Given the description of an element on the screen output the (x, y) to click on. 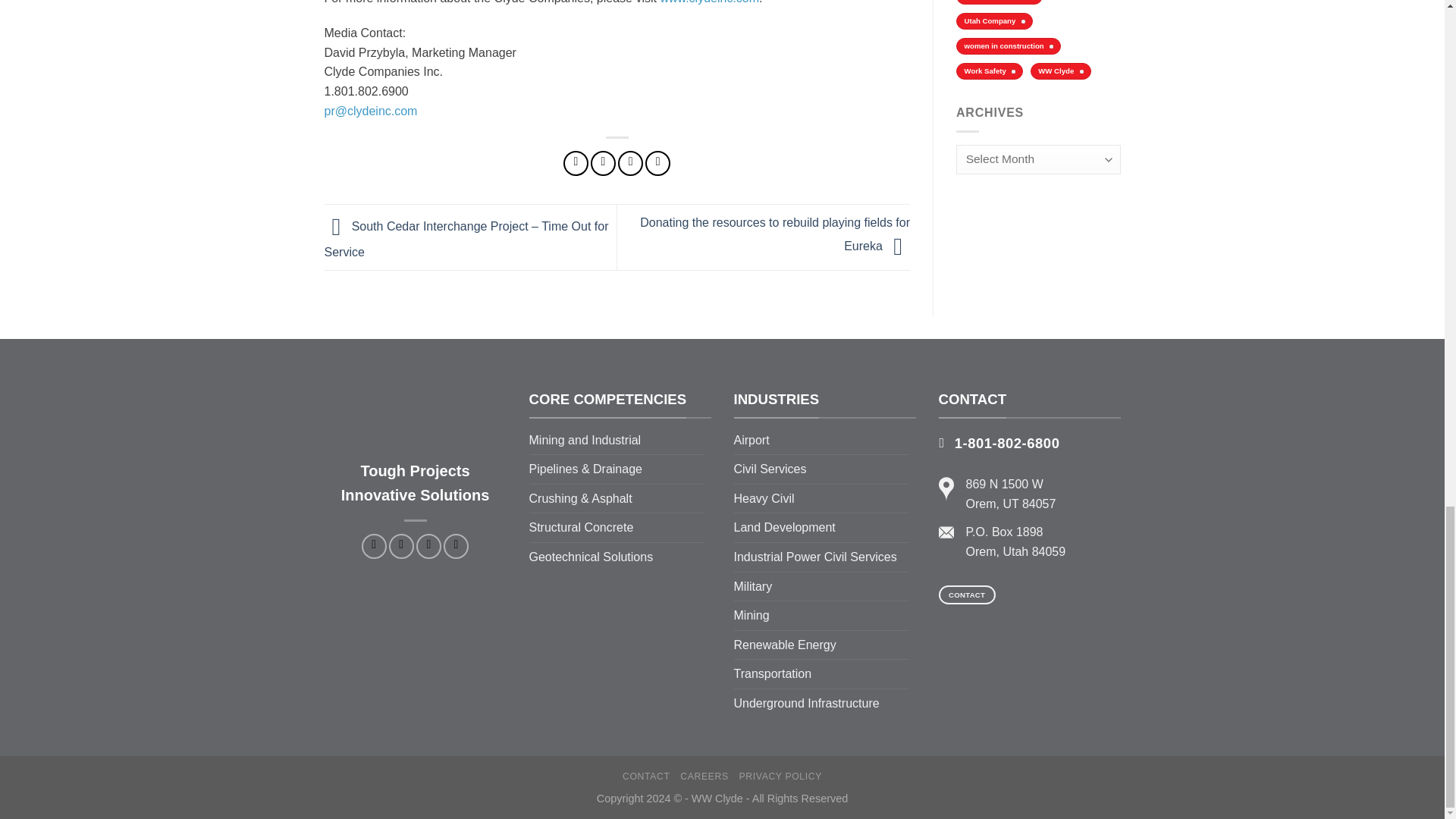
Follow on Facebook (374, 545)
Email to a Friend (630, 163)
Follow on LinkedIn (428, 545)
Share on Twitter (603, 163)
Share on LinkedIn (657, 163)
Share on Facebook (575, 163)
Follow on YouTube (456, 545)
Follow on Instagram (400, 545)
